Given the description of an element on the screen output the (x, y) to click on. 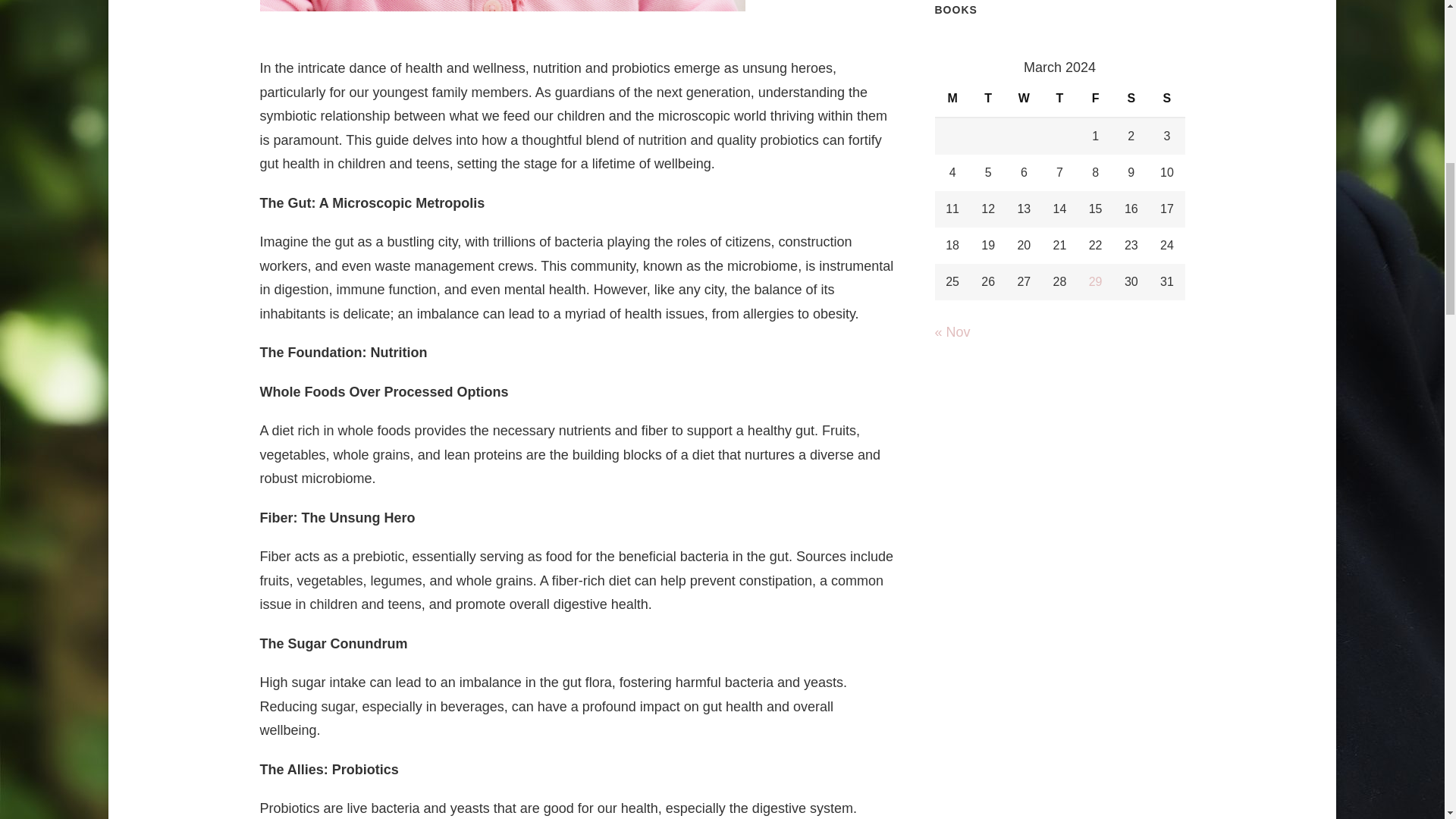
Tuesday (988, 98)
Friday (1095, 98)
Saturday (1130, 98)
Sunday (1166, 98)
Thursday (1059, 98)
Wednesday (1024, 98)
Monday (951, 98)
